Given the description of an element on the screen output the (x, y) to click on. 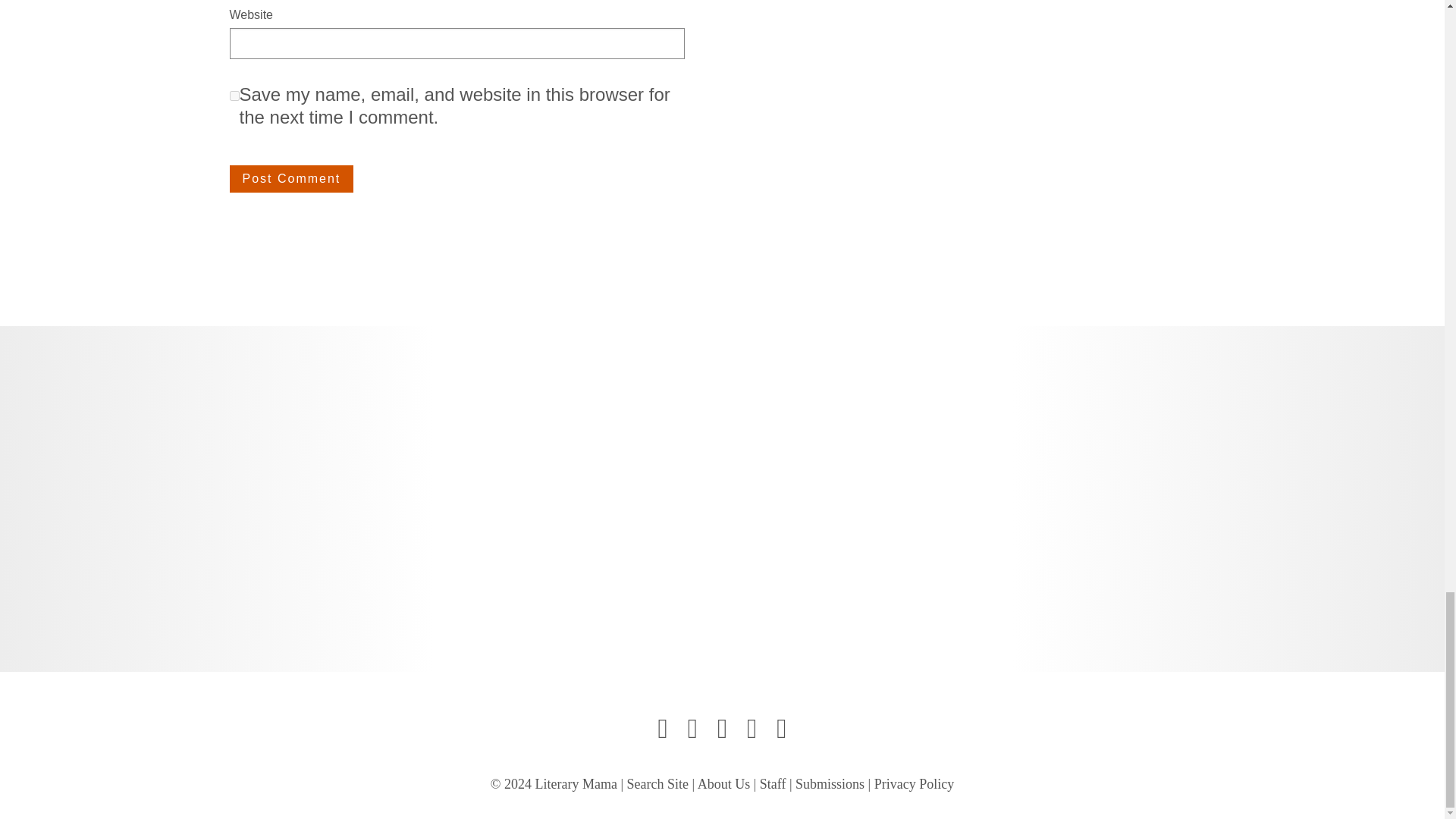
yes (233, 95)
Post Comment (290, 178)
Post Comment (290, 178)
